Given the description of an element on the screen output the (x, y) to click on. 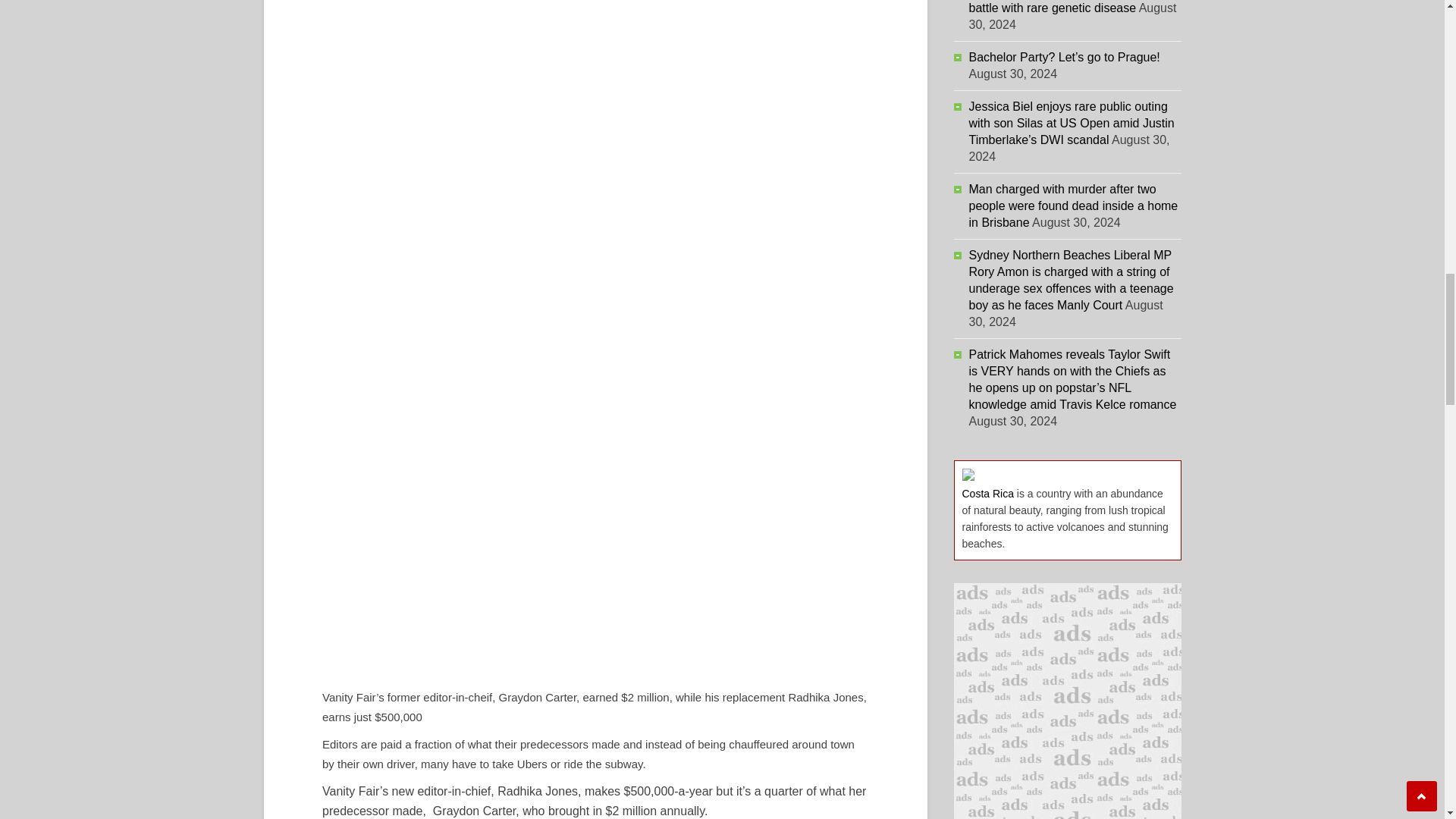
Costa Rica (986, 493)
